Given the description of an element on the screen output the (x, y) to click on. 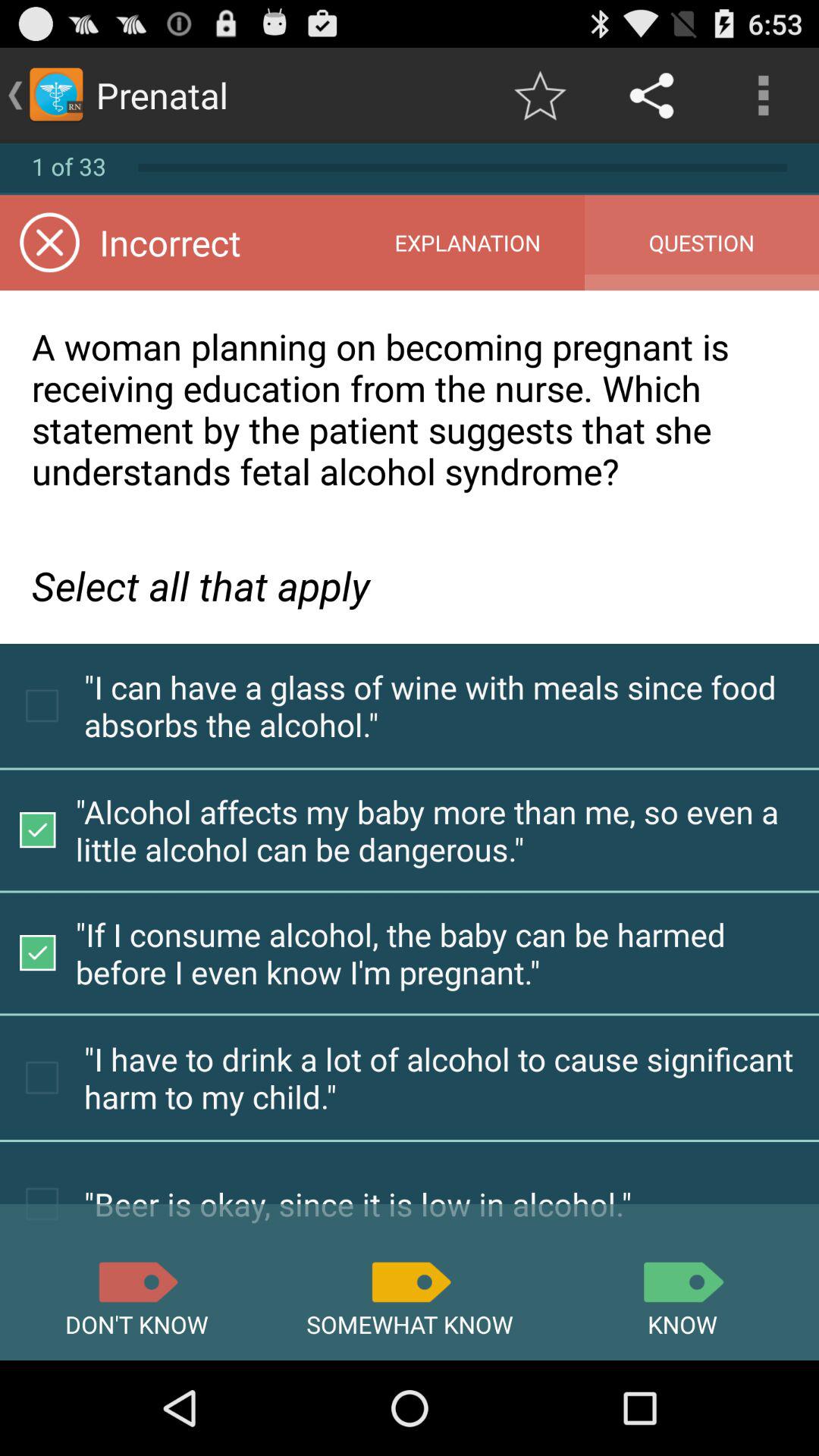
turn off item to the right of incorrect icon (467, 242)
